Given the description of an element on the screen output the (x, y) to click on. 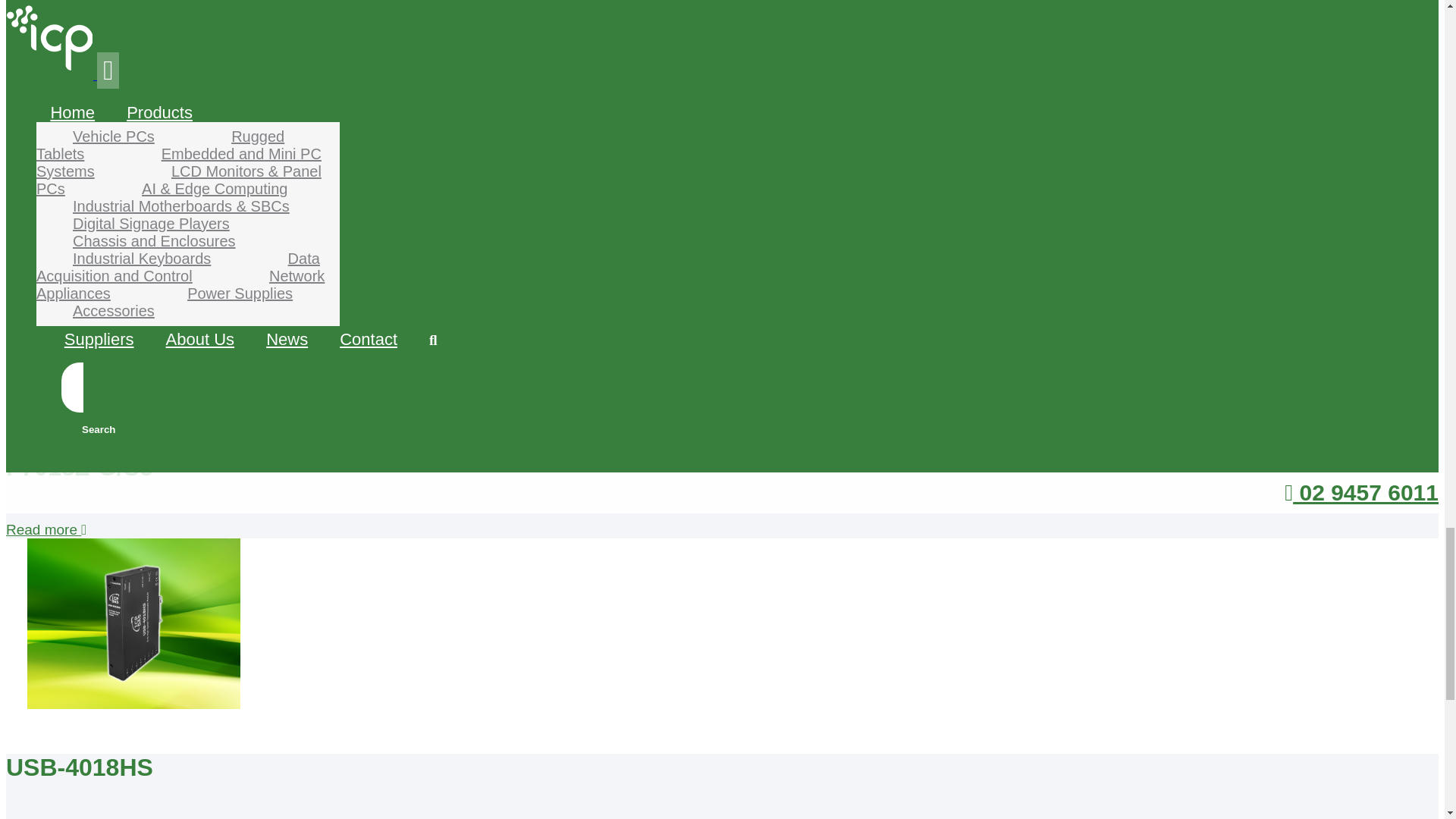
Read more (45, 229)
Read more (45, 529)
